Given the description of an element on the screen output the (x, y) to click on. 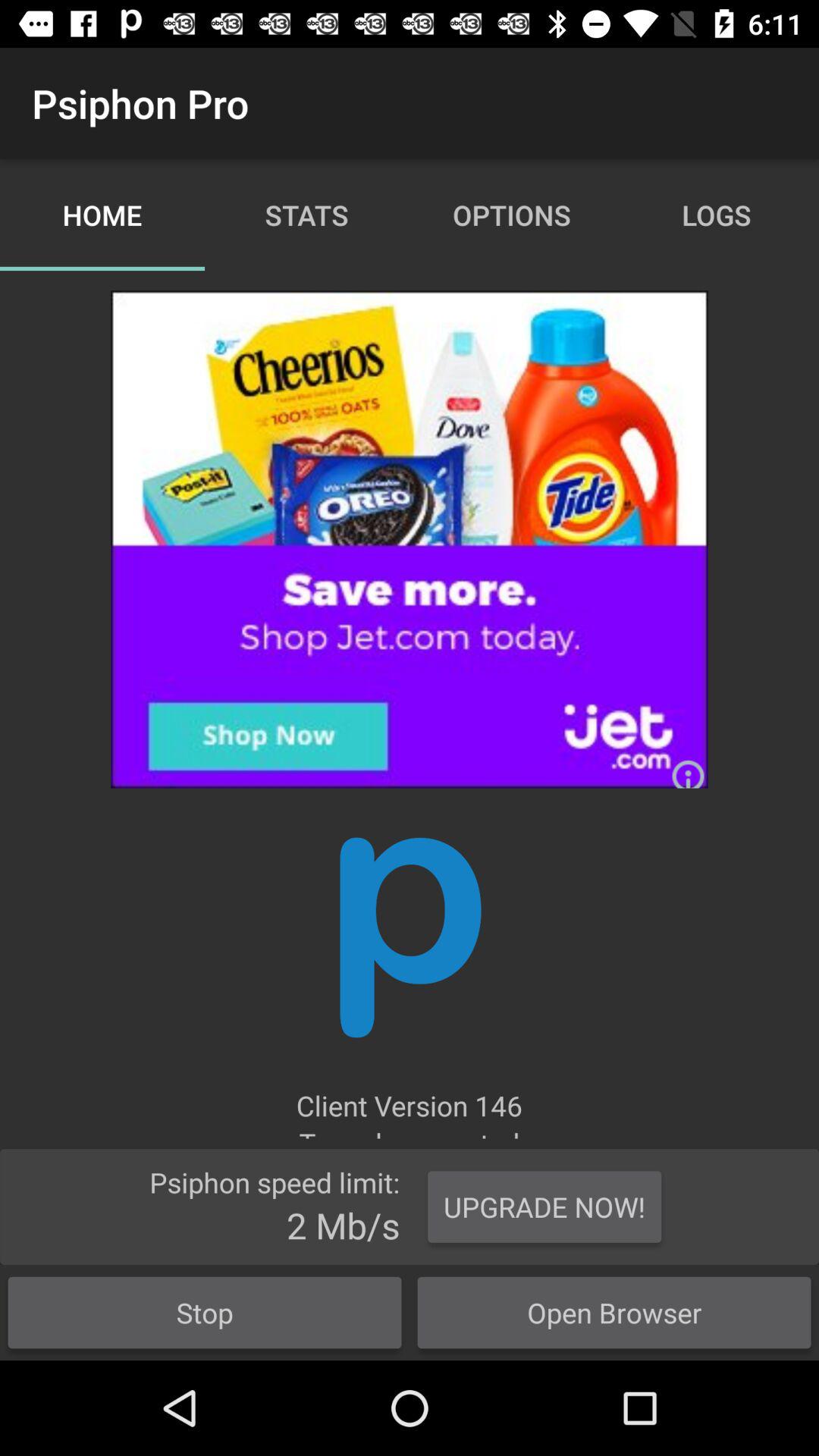
advertisement (409, 539)
